Given the description of an element on the screen output the (x, y) to click on. 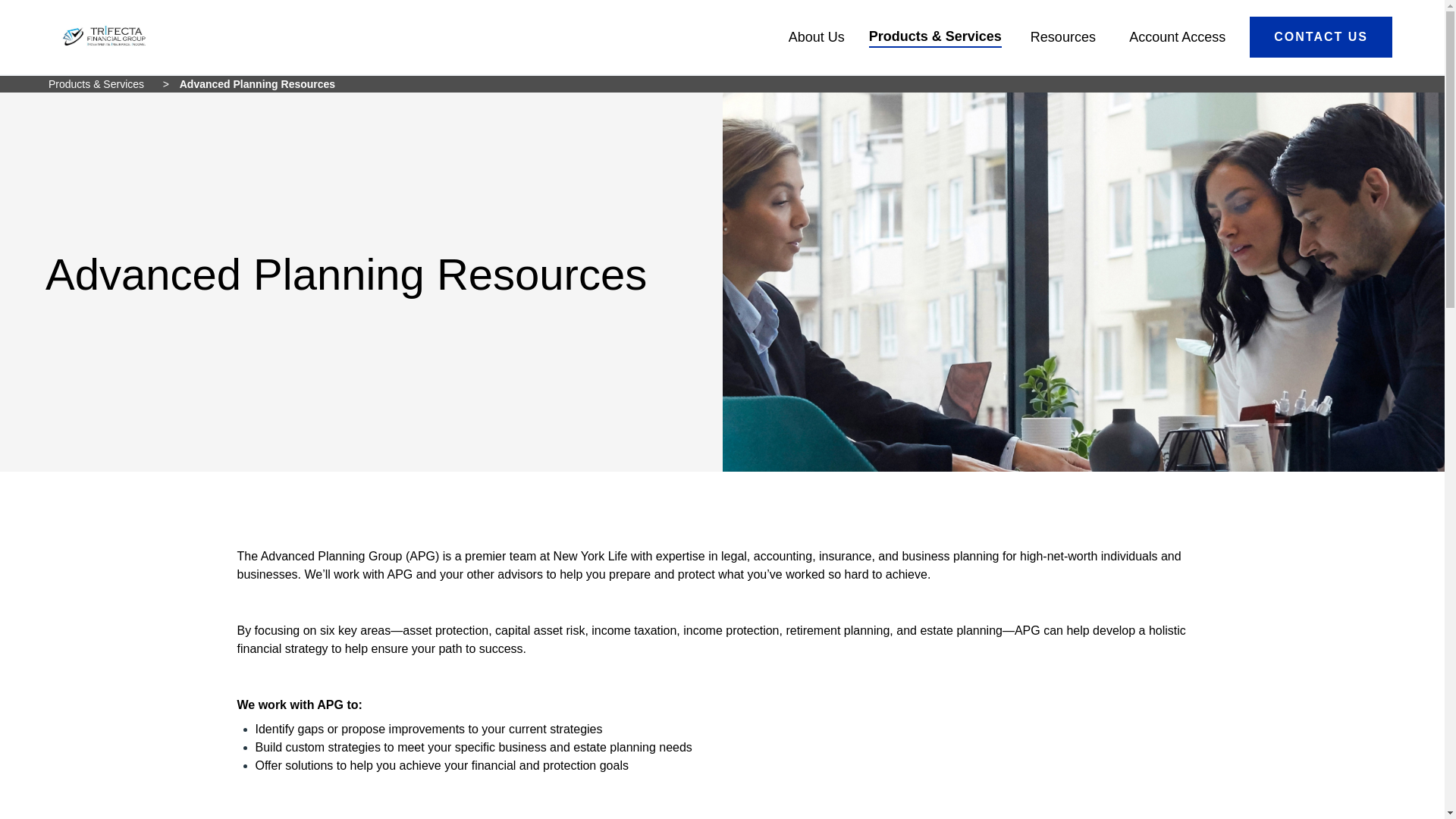
Resources (1061, 36)
Advanced Planning Resources (256, 83)
CONTACT US (1320, 36)
Account Access (1172, 36)
About Us (814, 36)
